Given the description of an element on the screen output the (x, y) to click on. 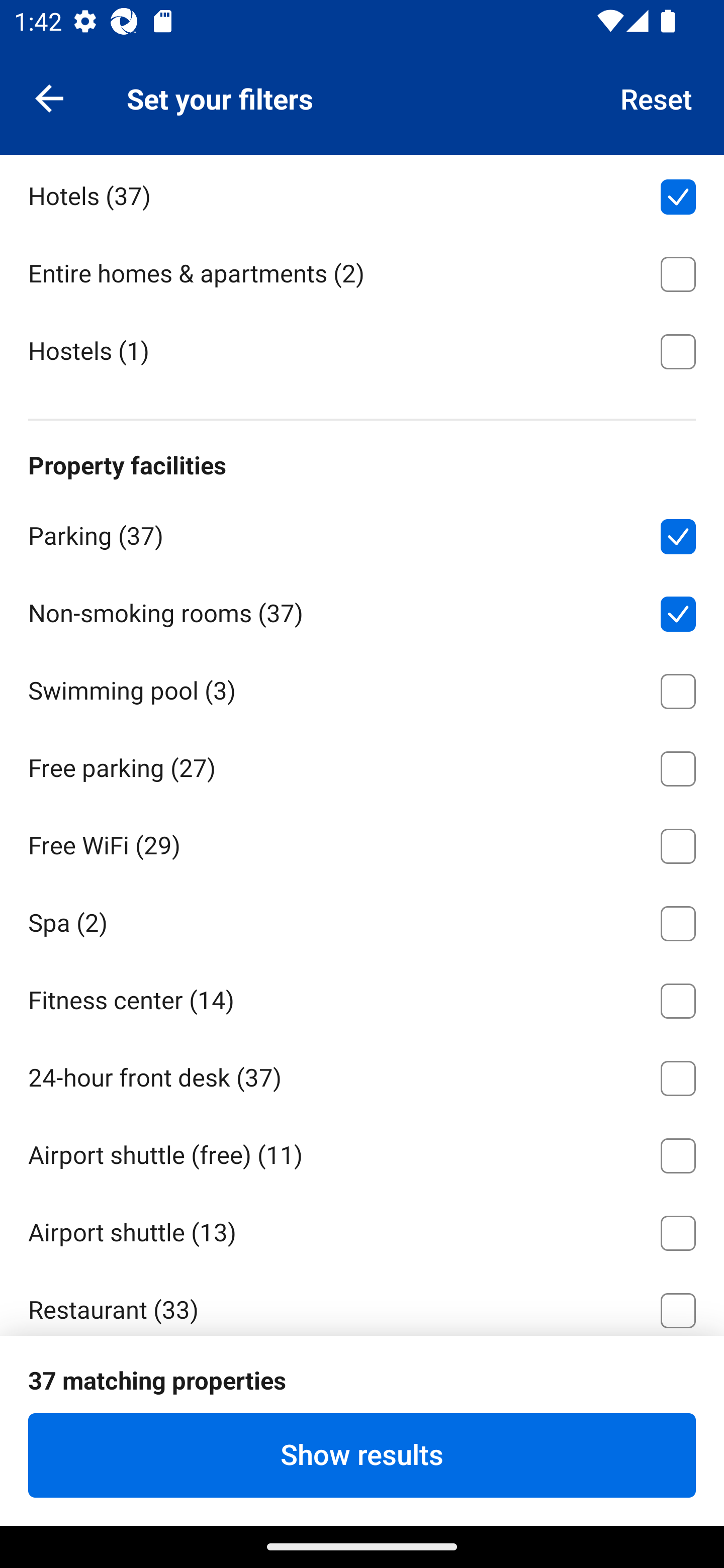
Navigate up (49, 97)
Reset (656, 97)
Hotels ⁦(37) (361, 193)
Entire homes & apartments ⁦(2) (361, 270)
Hostels ⁦(1) (361, 349)
Parking ⁦(37) (361, 532)
Non-smoking rooms ⁦(37) (361, 610)
Swimming pool ⁦(3) (361, 687)
Free parking ⁦(27) (361, 764)
Free WiFi ⁦(29) (361, 842)
Spa ⁦(2) (361, 920)
Fitness center ⁦(14) (361, 997)
24-hour front desk ⁦(37) (361, 1074)
Airport shuttle (free) ⁦(11) (361, 1152)
Airport shuttle ⁦(13) (361, 1229)
Restaurant ⁦(33) (361, 1301)
Family rooms ⁦(21) (361, 1384)
Wheelchair accessible ⁦(9) (361, 1461)
